Given the description of an element on the screen output the (x, y) to click on. 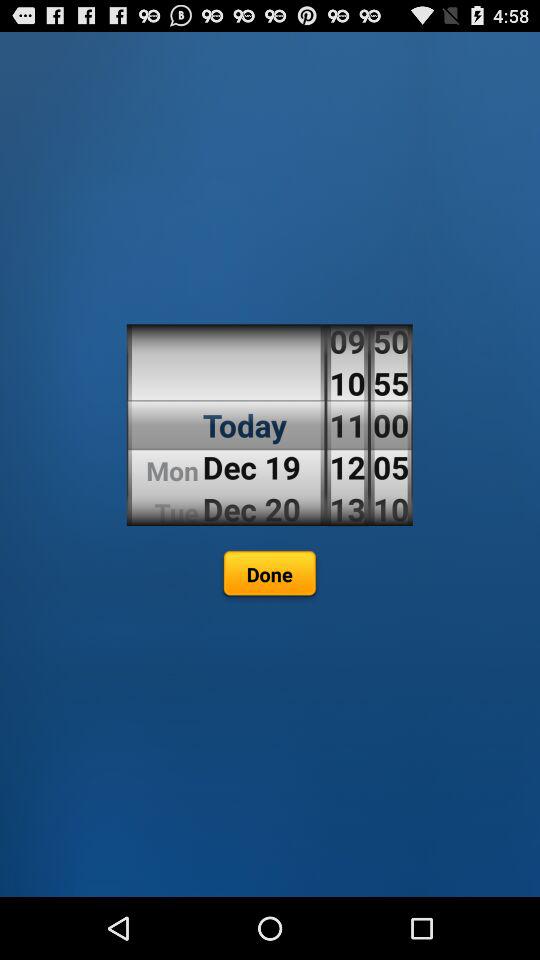
choose done icon (269, 576)
